Given the description of an element on the screen output the (x, y) to click on. 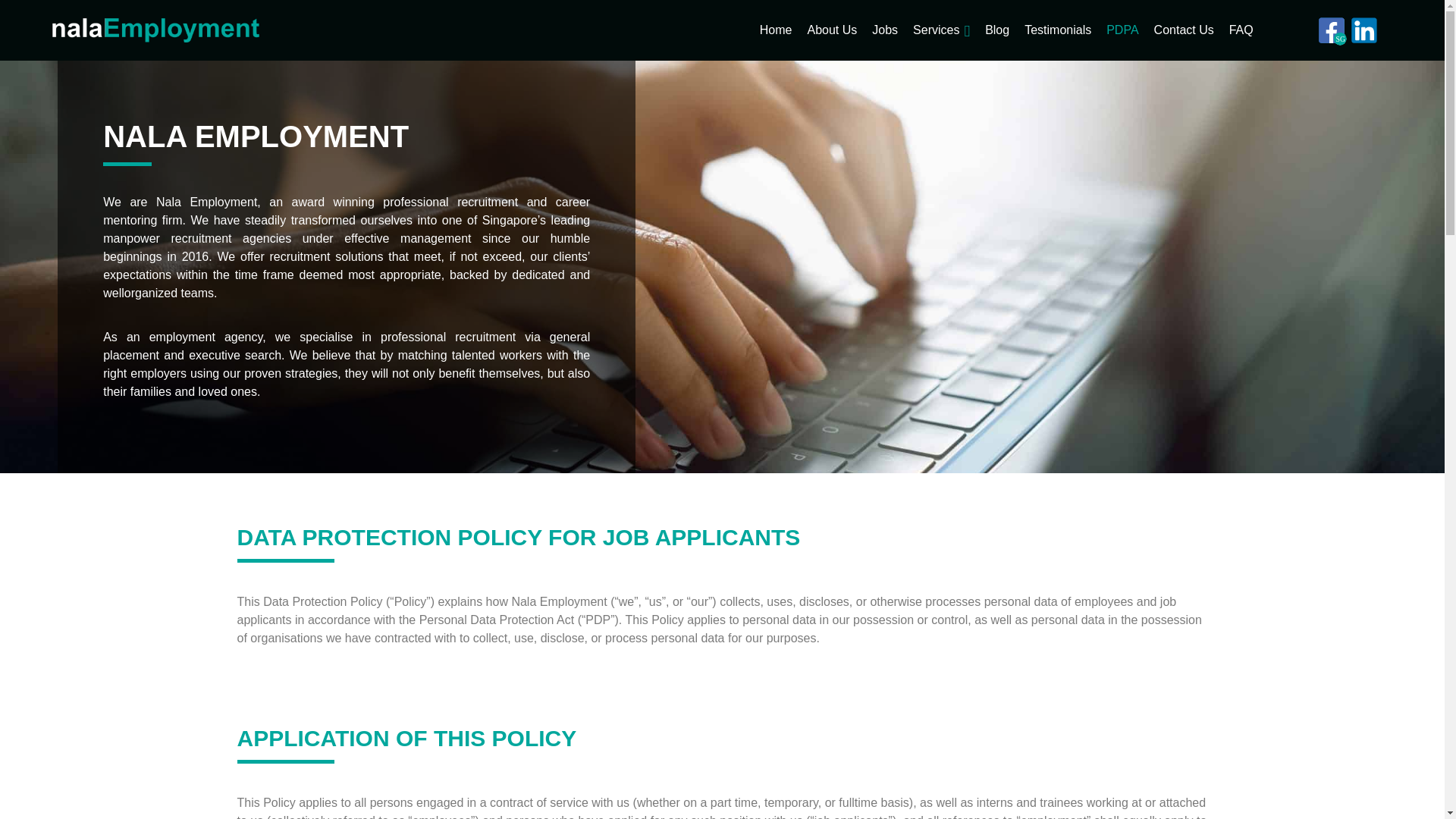
SG (1331, 30)
PDPA (1122, 30)
Blog (997, 30)
SG (1331, 30)
Home (776, 30)
Services (935, 30)
Jobs (885, 30)
FAQ (1240, 30)
About Us (831, 30)
Testimonials (1057, 30)
Contact Us (1184, 30)
